Given the description of an element on the screen output the (x, y) to click on. 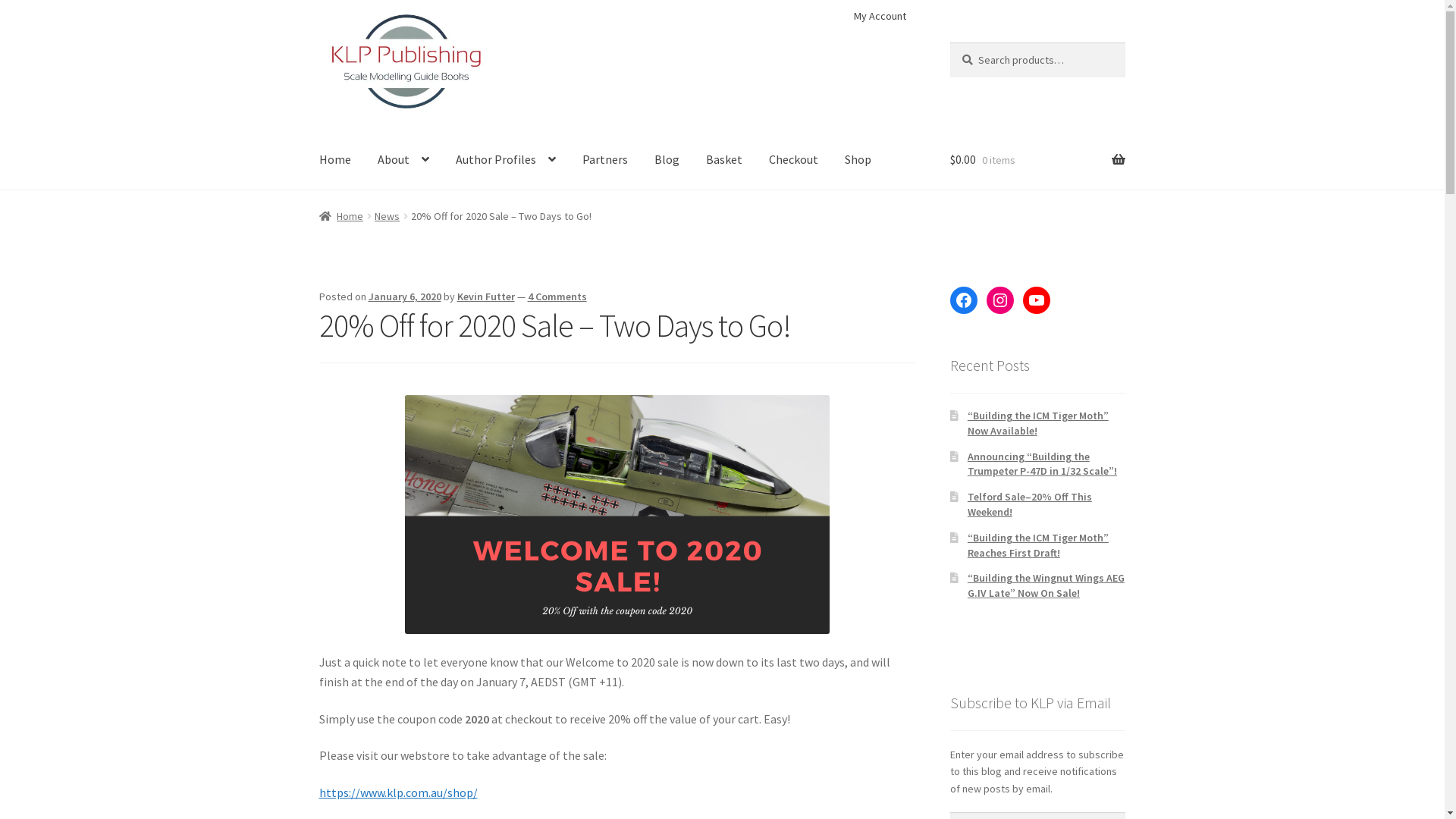
Shop Element type: text (857, 159)
Home Element type: text (335, 159)
Facebook Element type: text (963, 299)
Checkout Element type: text (793, 159)
Blog Element type: text (666, 159)
$0.00 0 items Element type: text (1037, 159)
Home Element type: text (341, 215)
https://www.klp.com.au/shop/ Element type: text (398, 792)
Instagram Element type: text (999, 299)
Author Profiles Element type: text (505, 159)
Basket Element type: text (723, 159)
4 Comments Element type: text (556, 296)
About Element type: text (403, 159)
Kevin Futter Element type: text (485, 296)
January 6, 2020 Element type: text (404, 296)
News Element type: text (386, 215)
YouTube Element type: text (1036, 299)
Search Element type: text (949, 41)
Partners Element type: text (605, 159)
My Account Element type: text (879, 15)
